Given the description of an element on the screen output the (x, y) to click on. 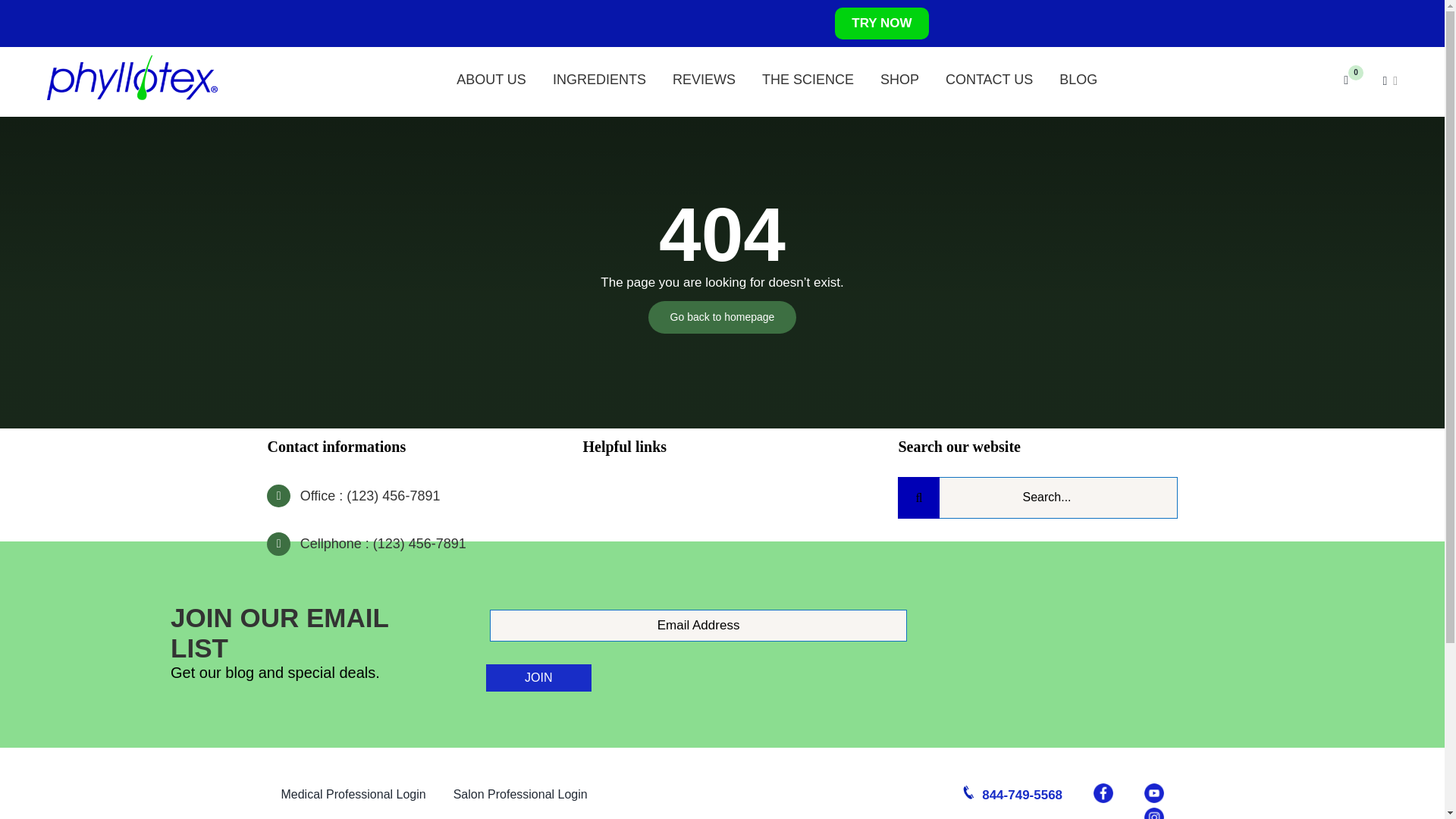
Join (538, 677)
TRY NOW (881, 23)
Log In (1379, 250)
CONTACT US (988, 75)
844-749-5568 (1010, 794)
ABOUT US (491, 75)
Salon Professional Login (520, 794)
BLOG (1078, 75)
INGREDIENTS (599, 75)
Join (538, 677)
THE SCIENCE (807, 75)
Medical Professional Login (353, 794)
Go back to homepage (721, 317)
REVIEWS (703, 75)
SHOP (899, 75)
